Given the description of an element on the screen output the (x, y) to click on. 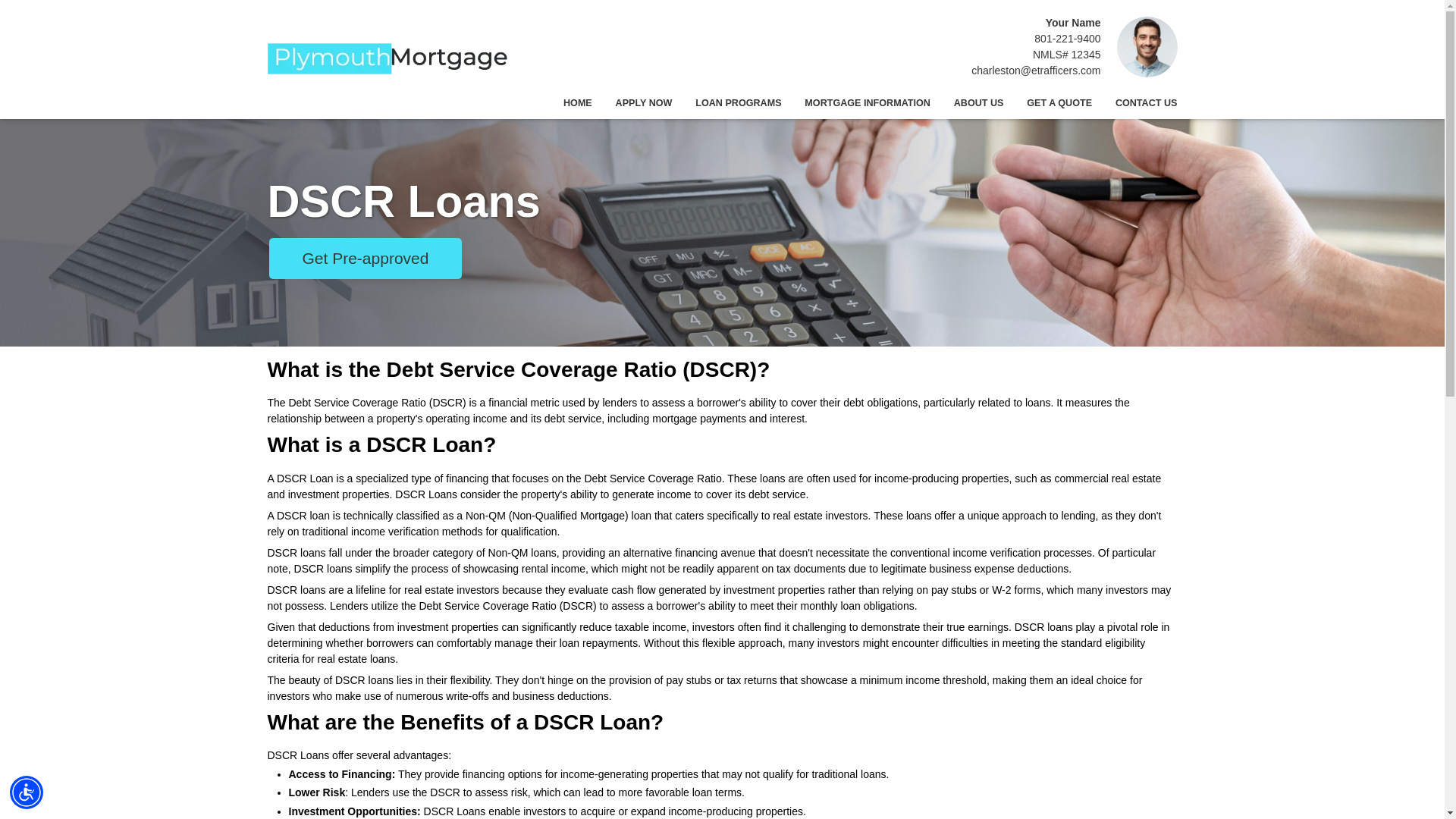
ABOUT US (978, 102)
LOAN PROGRAMS (738, 102)
Accessibility Menu (26, 792)
GET A QUOTE (1058, 102)
CONTACT US (1139, 102)
MORTGAGE INFORMATION (867, 102)
Get Pre-approved (364, 258)
HOME (577, 102)
APPLY NOW (644, 102)
801-221-9400 (1066, 38)
